Given the description of an element on the screen output the (x, y) to click on. 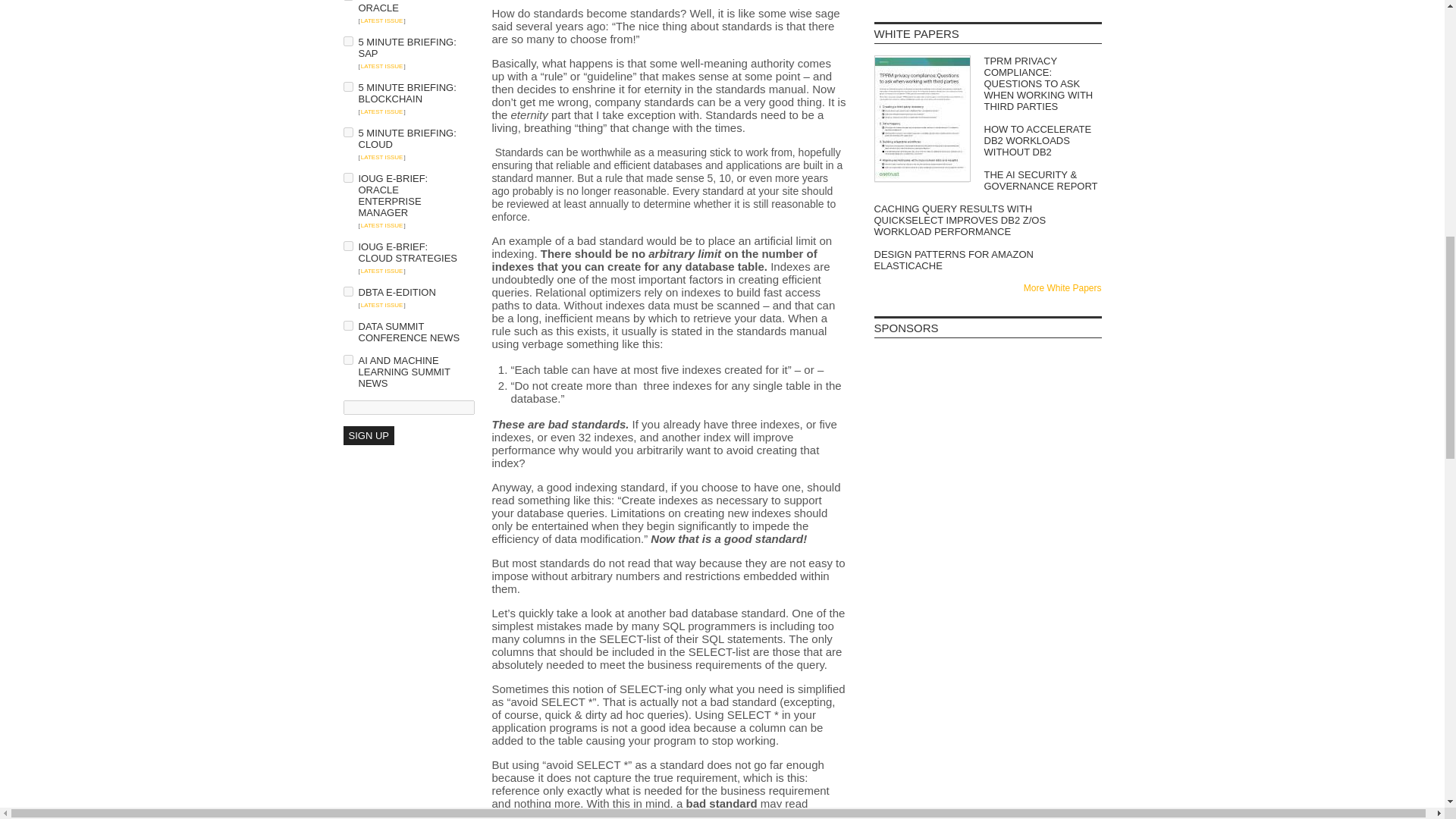
on (347, 359)
on (347, 132)
How to Accelerate DB2 Workloads Without DB2 (986, 140)
3rd party ad content (986, 569)
3rd party ad content (986, 478)
on (347, 86)
on (347, 325)
on (347, 291)
on (347, 177)
Design patterns for Amazon ElastiCache (986, 259)
Sign Up (367, 435)
on (347, 40)
on (347, 245)
